Given the description of an element on the screen output the (x, y) to click on. 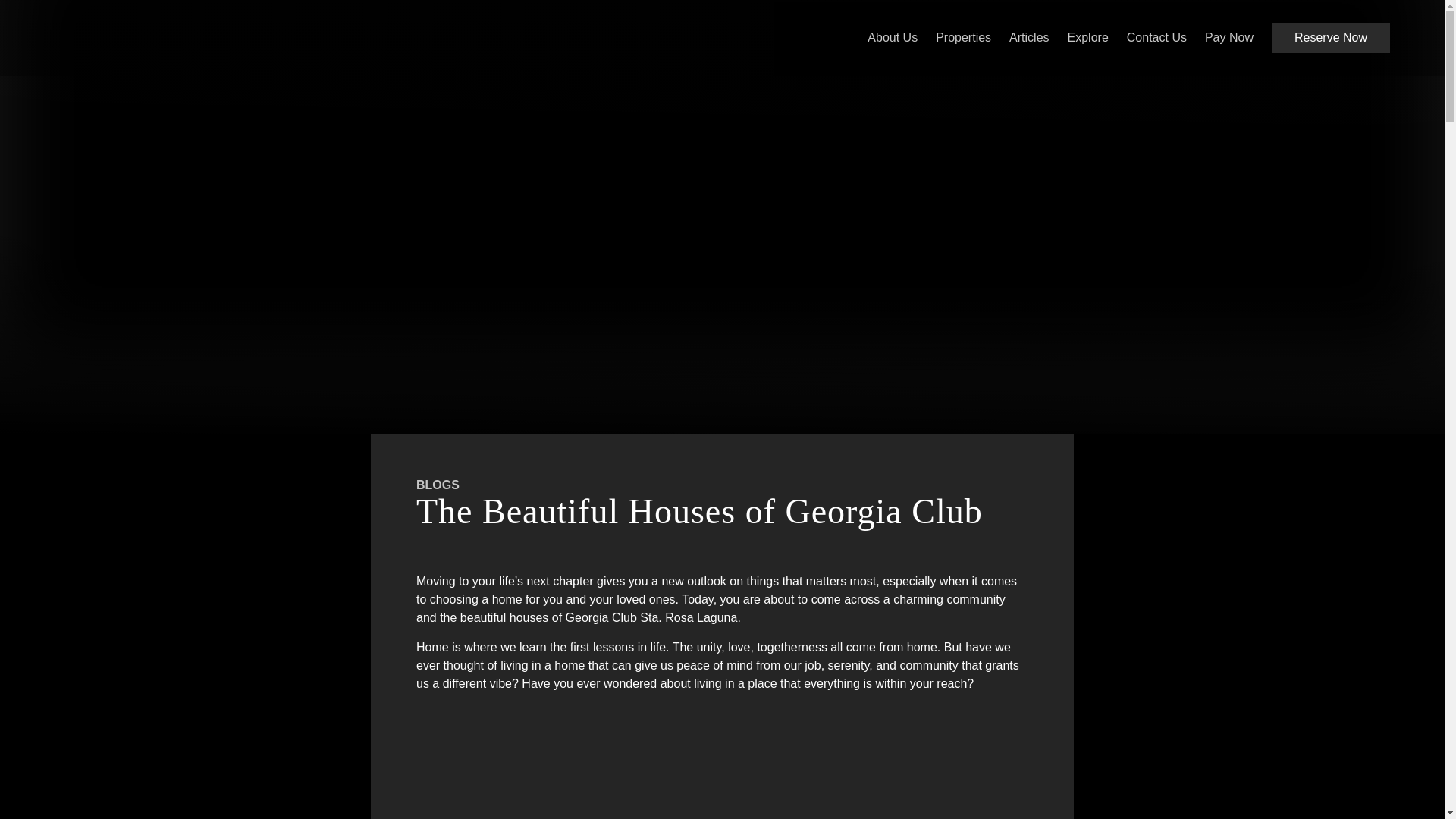
Properties (963, 37)
About Us (892, 37)
Explore (1087, 37)
Reserve Now (1330, 37)
Contact Us (1156, 37)
Pay Now (1229, 37)
Articles (1028, 37)
